Given the description of an element on the screen output the (x, y) to click on. 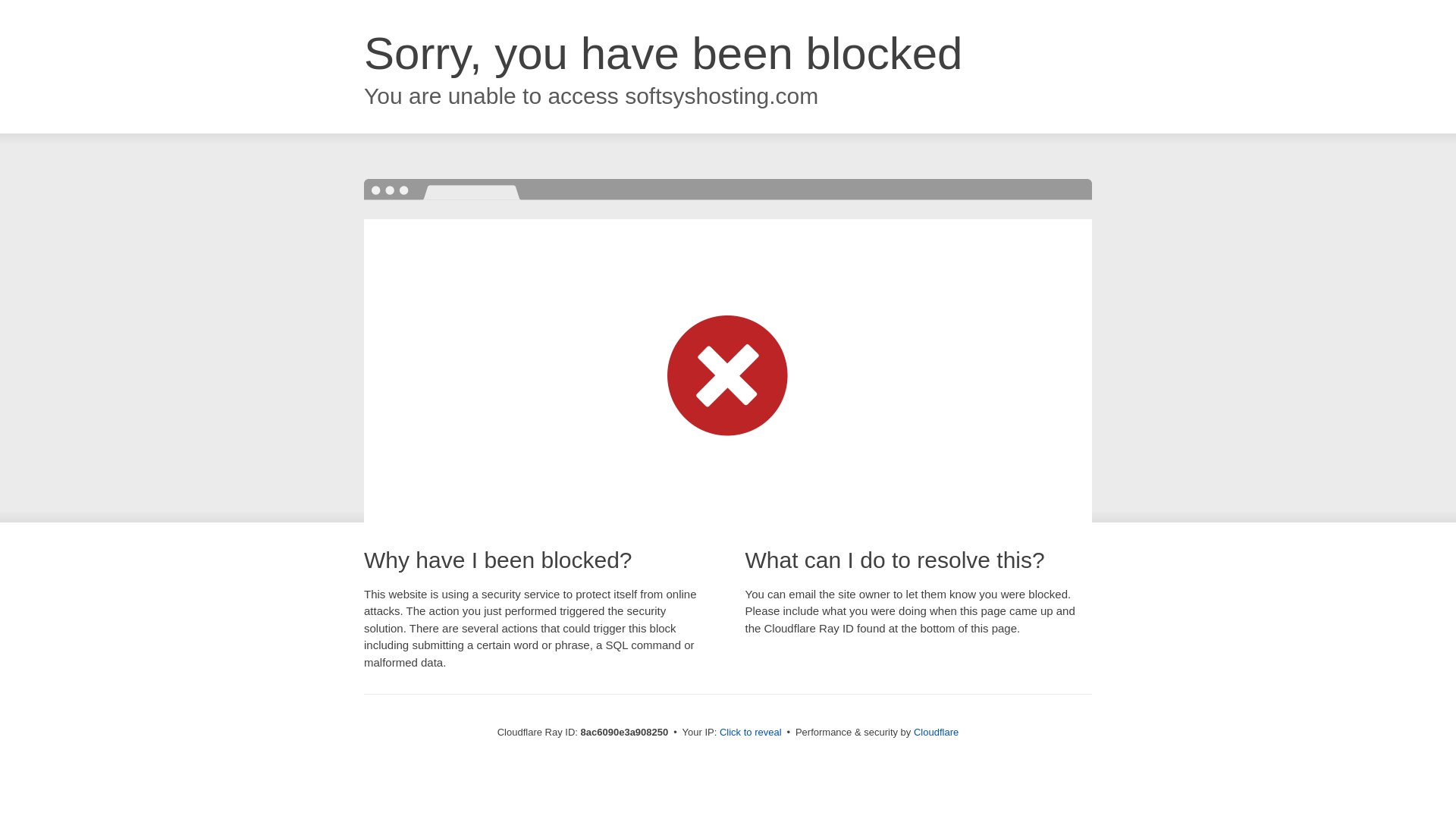
Click to reveal (750, 732)
Cloudflare (936, 731)
